Given the description of an element on the screen output the (x, y) to click on. 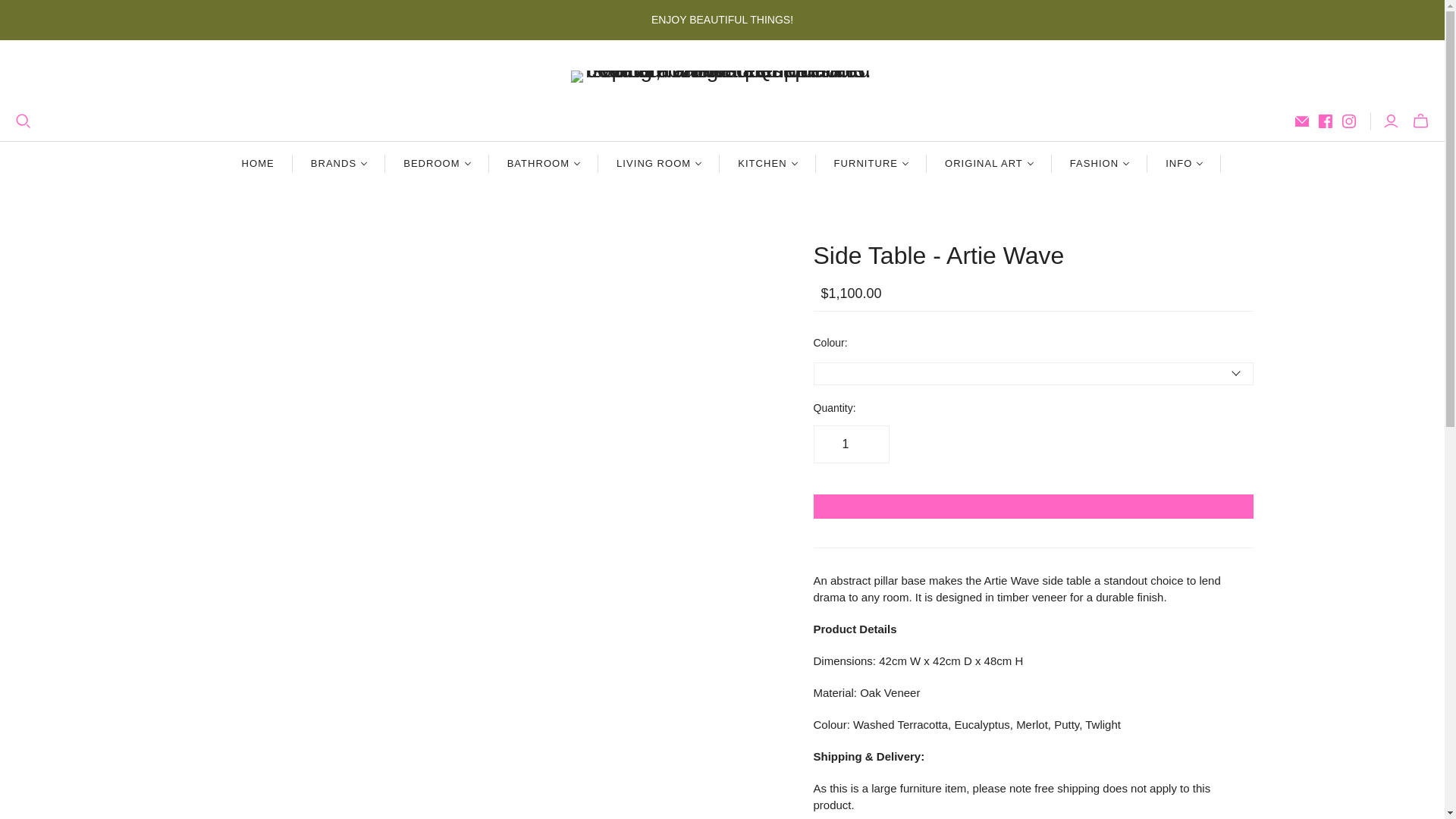
1 (850, 444)
HOME (258, 163)
